Given the description of an element on the screen output the (x, y) to click on. 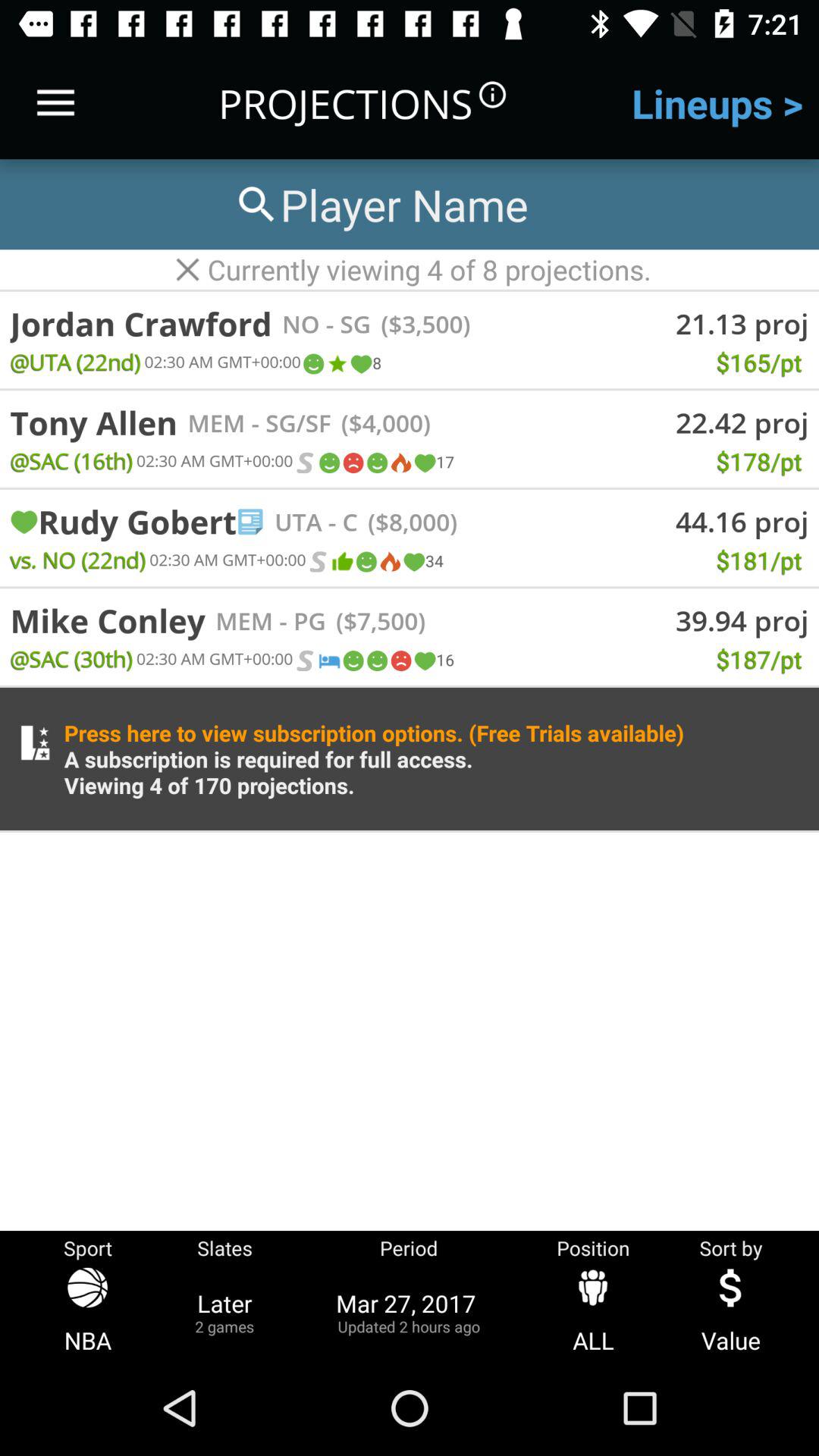
search player name (380, 204)
